Given the description of an element on the screen output the (x, y) to click on. 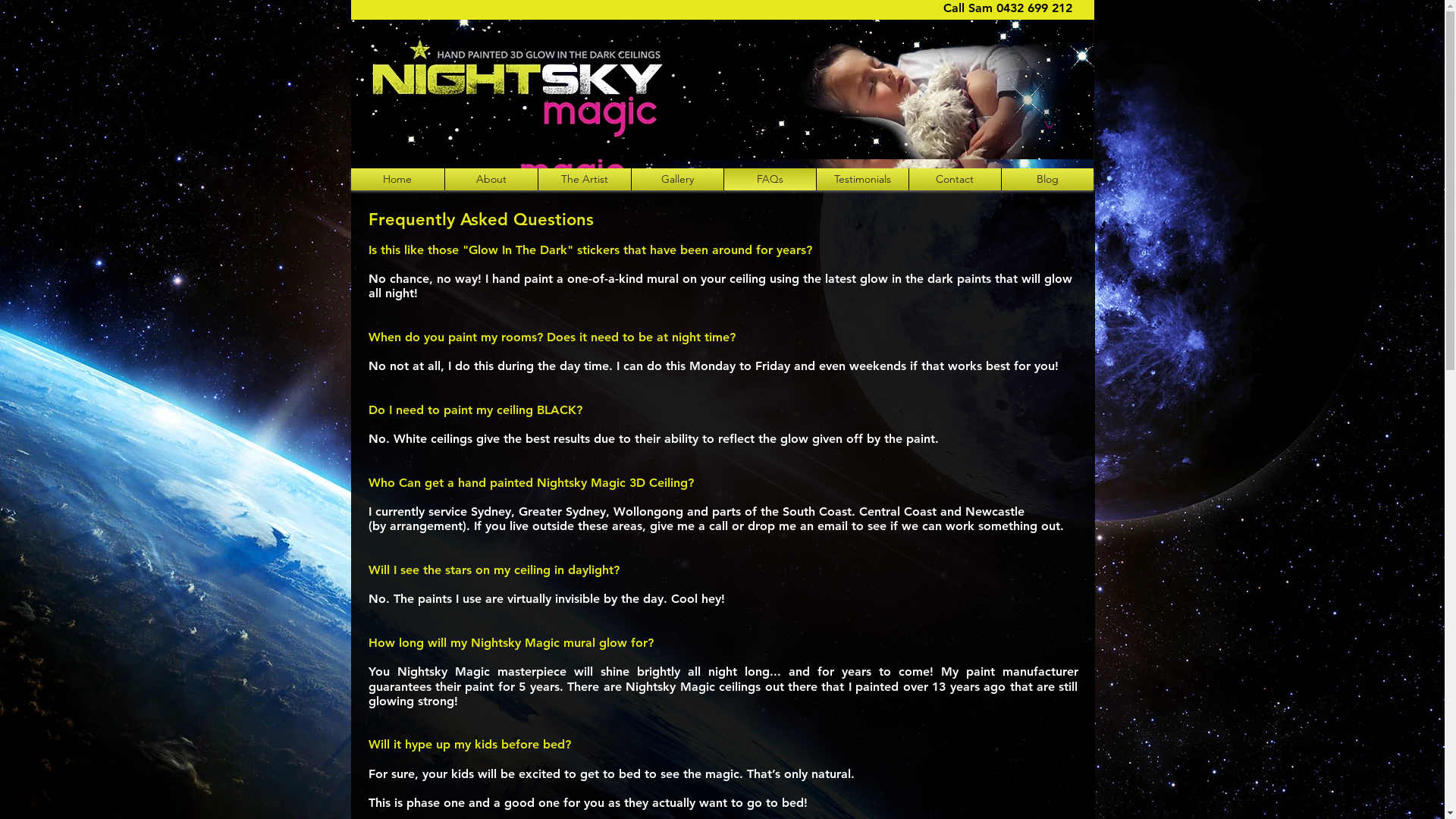
Blog Element type: text (1046, 179)
The Artist Element type: text (584, 179)
Click to go back to home page Element type: hover (721, 89)
FAQs Element type: text (769, 179)
Testimonials Element type: text (861, 179)
Home Element type: text (396, 179)
0 Element type: text (1047, 124)
About Element type: text (490, 179)
Gallery Element type: text (676, 179)
Contact Element type: text (954, 179)
